Given the description of an element on the screen output the (x, y) to click on. 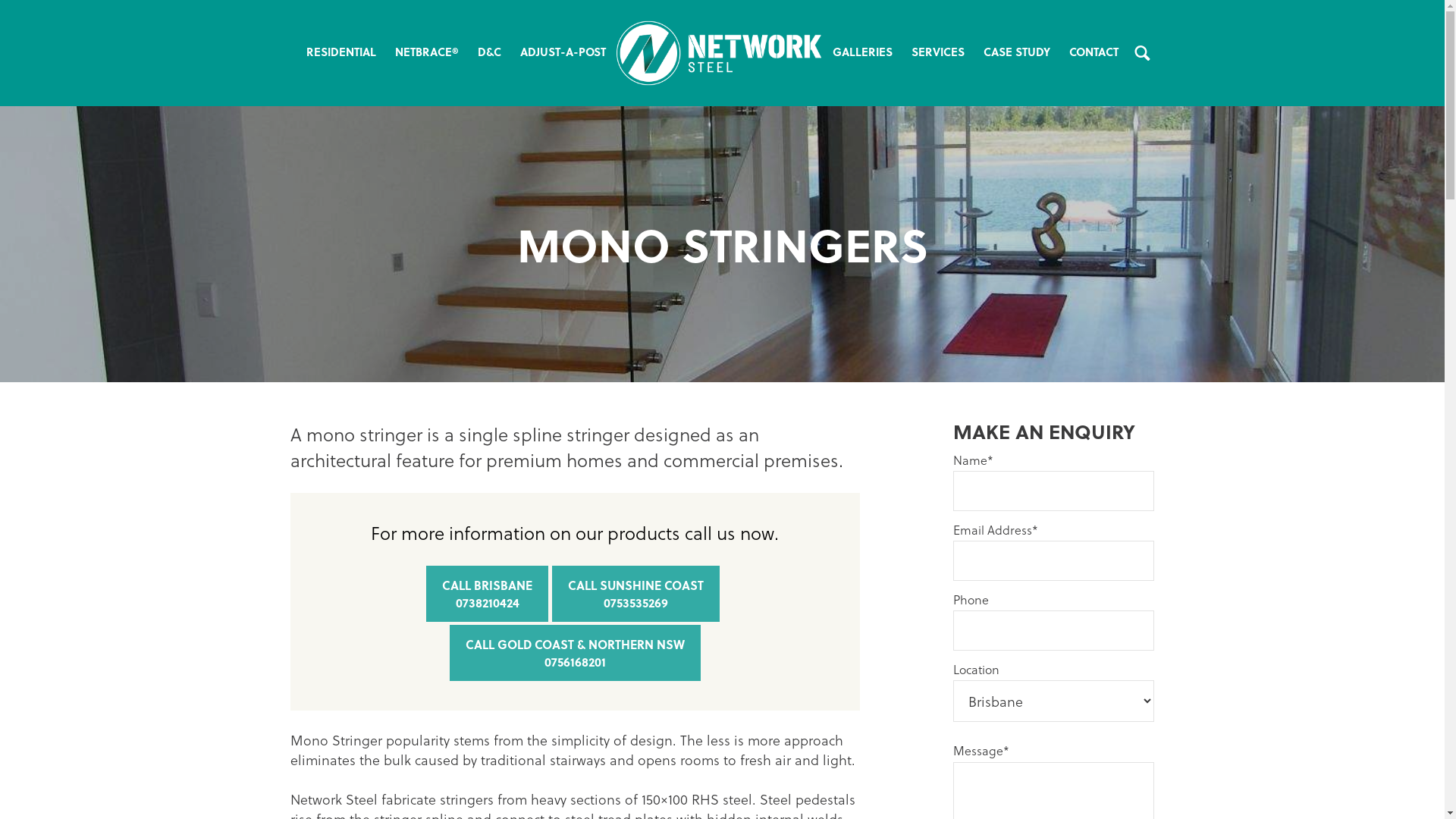
SERVICES Element type: text (937, 51)
ADJUST-A-POST Element type: text (562, 51)
GALLERIES Element type: text (862, 51)
RESIDENTIAL Element type: text (340, 51)
CONTACT Element type: text (1093, 51)
CALL GOLD COAST & NORTHERN NSW
0756168201 Element type: text (574, 652)
CASE STUDY Element type: text (1016, 51)
CALL BRISBANE
0738210424 Element type: text (487, 593)
TOGGLE SEARCH Element type: text (1141, 51)
HOME Element type: text (718, 53)
CALL SUNSHINE COAST
0753535269 Element type: text (635, 593)
D&C Element type: text (488, 51)
